Given the description of an element on the screen output the (x, y) to click on. 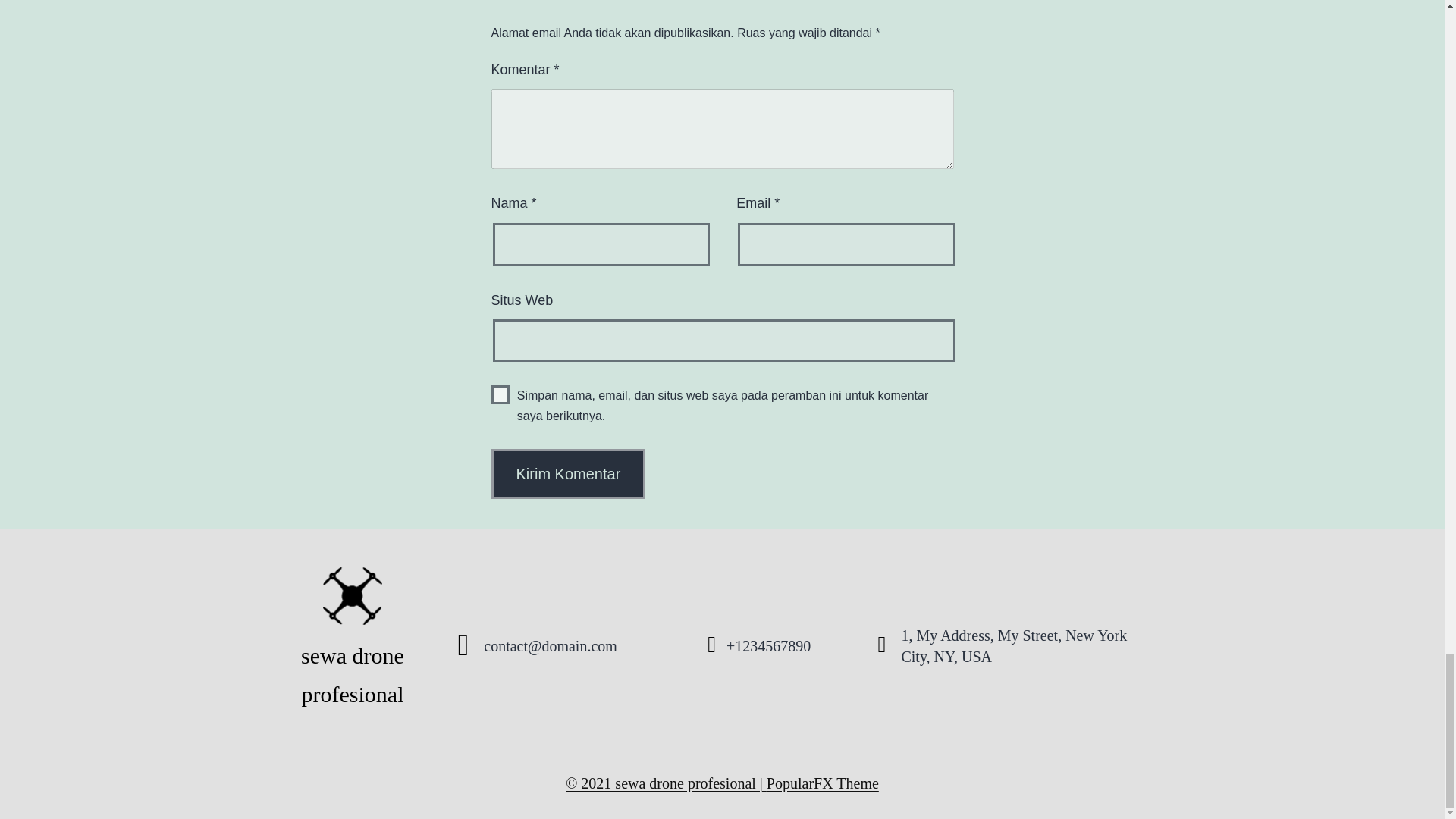
PopularFX Theme (823, 782)
Kirim Komentar (569, 473)
Kirim Komentar (569, 473)
yes (500, 394)
